Given the description of an element on the screen output the (x, y) to click on. 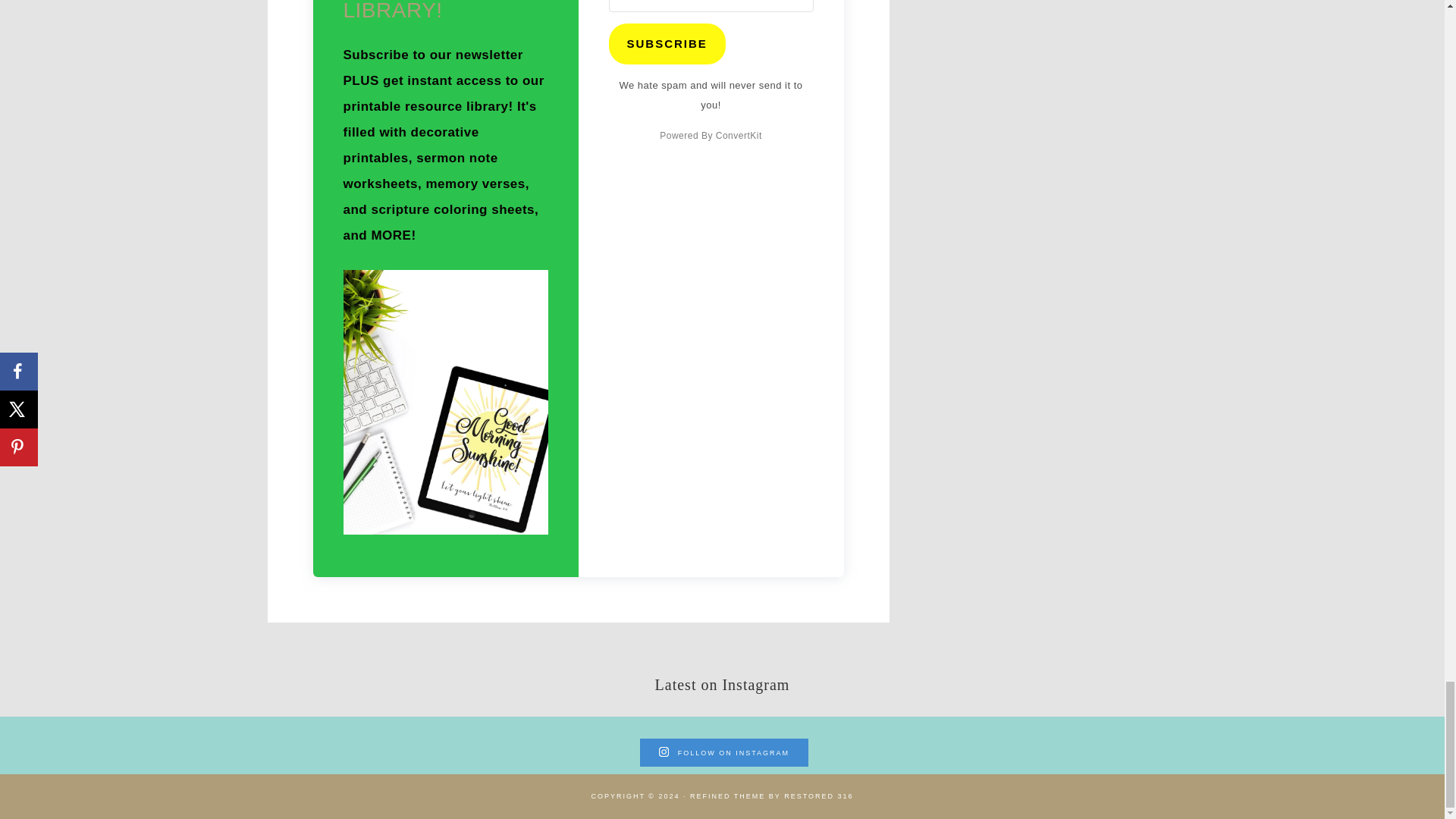
Powered By ConvertKit (710, 135)
SUBSCRIBE (666, 43)
